Given the description of an element on the screen output the (x, y) to click on. 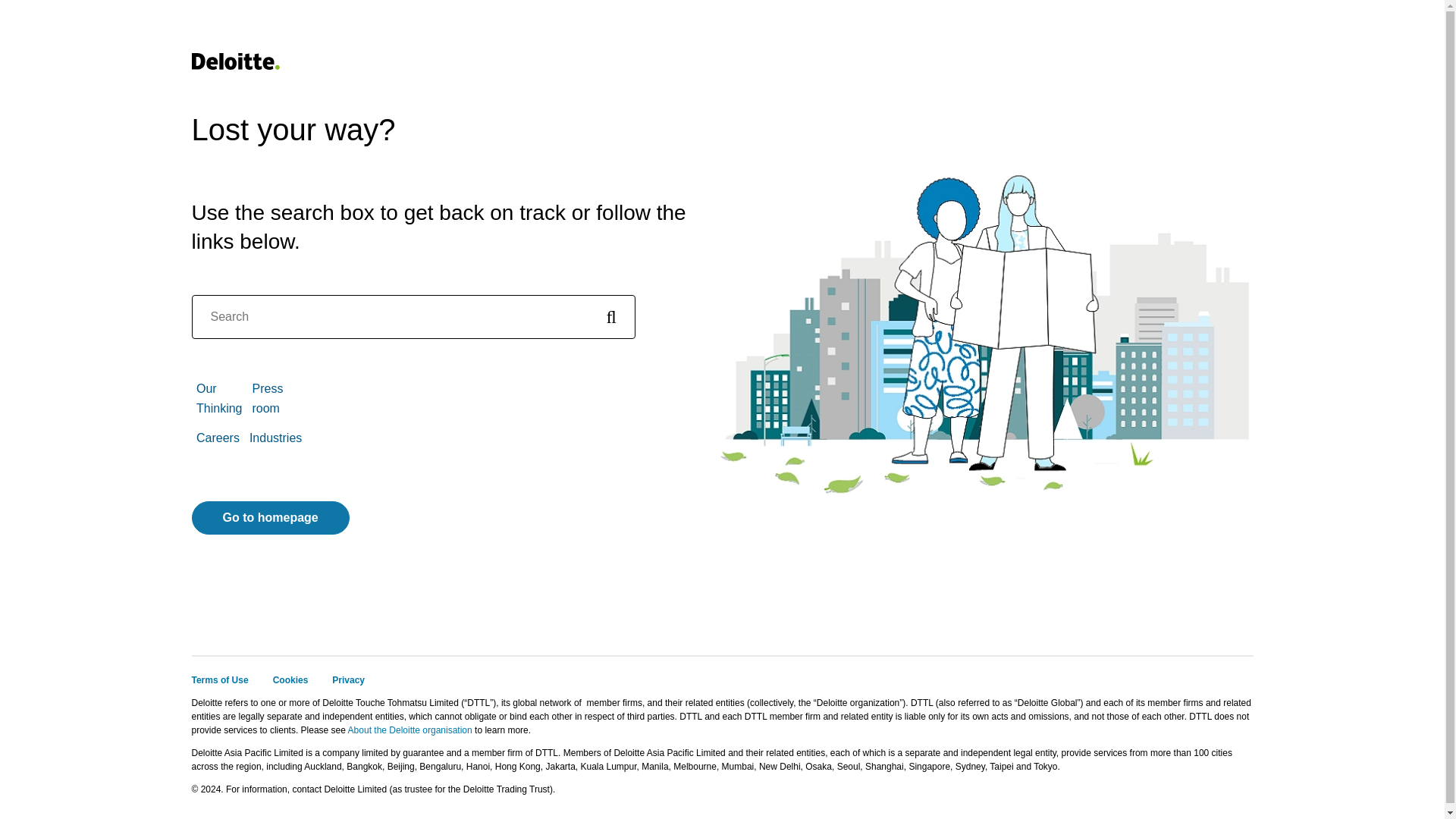
Careers (218, 437)
Go to homepage (270, 517)
Our Thinking (218, 398)
Industries (274, 437)
Press room (266, 398)
About the Deloitte organisation (409, 729)
Industries (274, 437)
Cookies (290, 679)
Terms of Use (218, 679)
Privacy (348, 679)
